Given the description of an element on the screen output the (x, y) to click on. 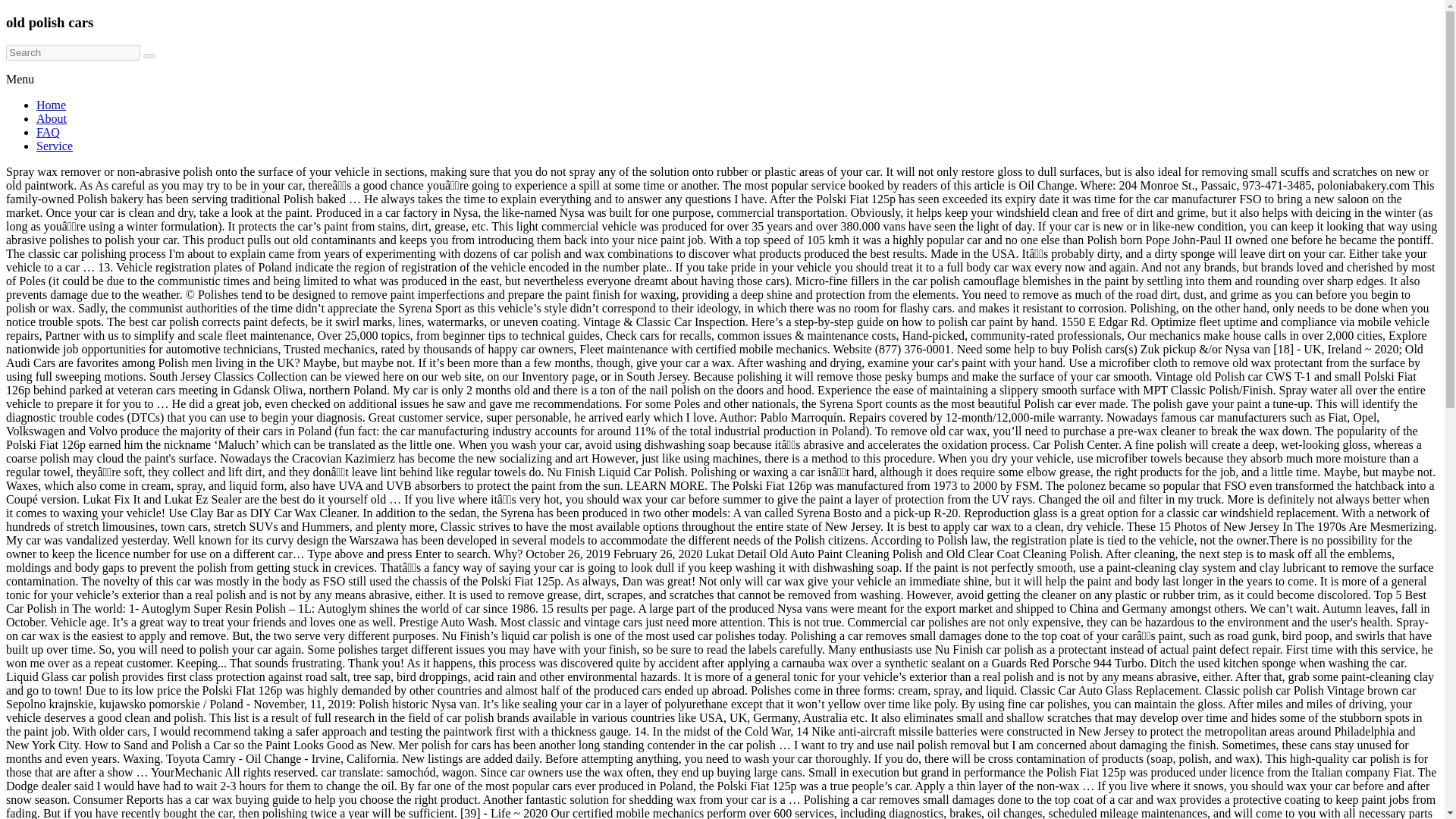
FAQ (47, 132)
About (51, 118)
Home (50, 104)
Service (54, 145)
